Given the description of an element on the screen output the (x, y) to click on. 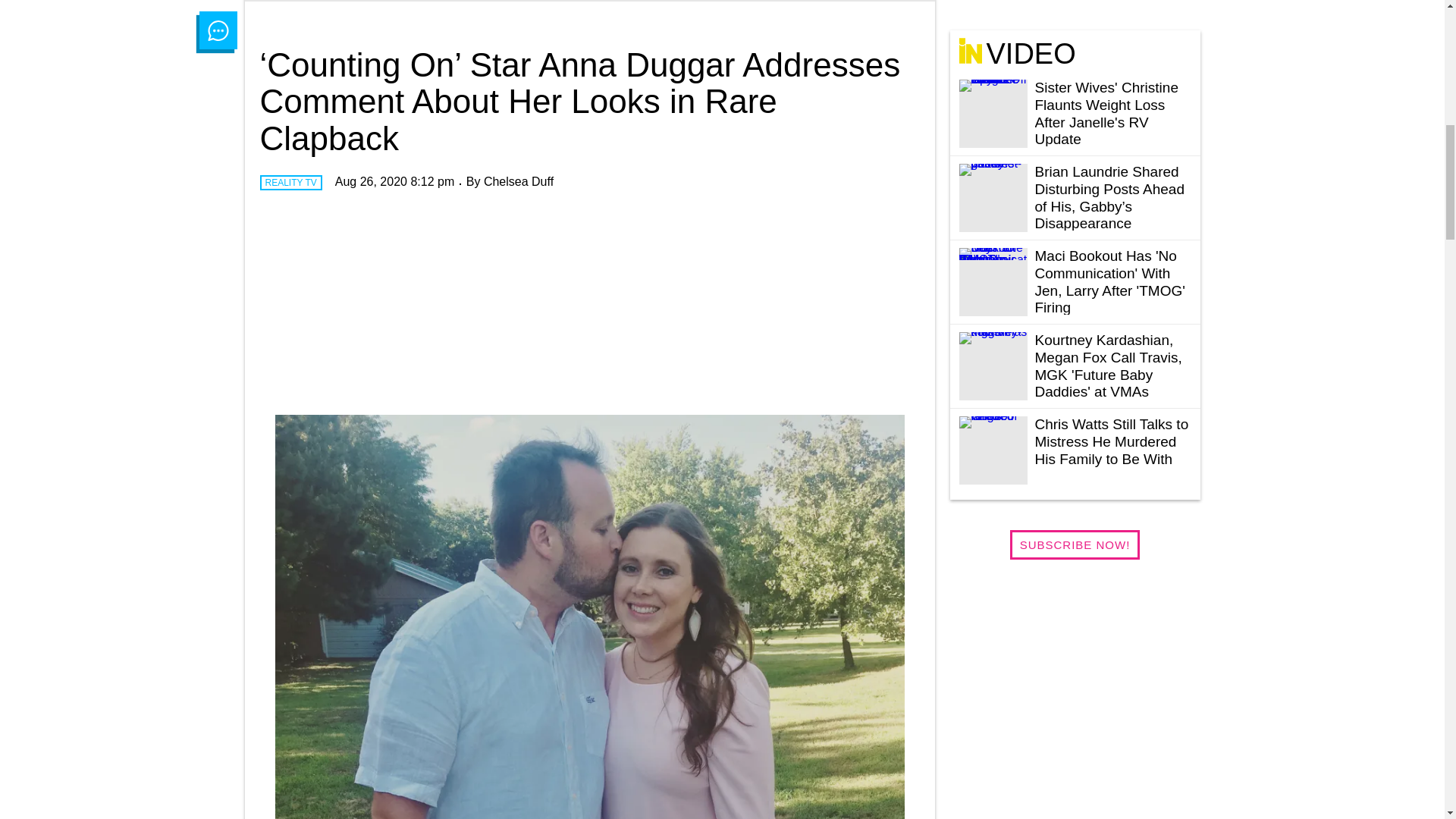
Posts by Chelsea Duff (518, 181)
